Given the description of an element on the screen output the (x, y) to click on. 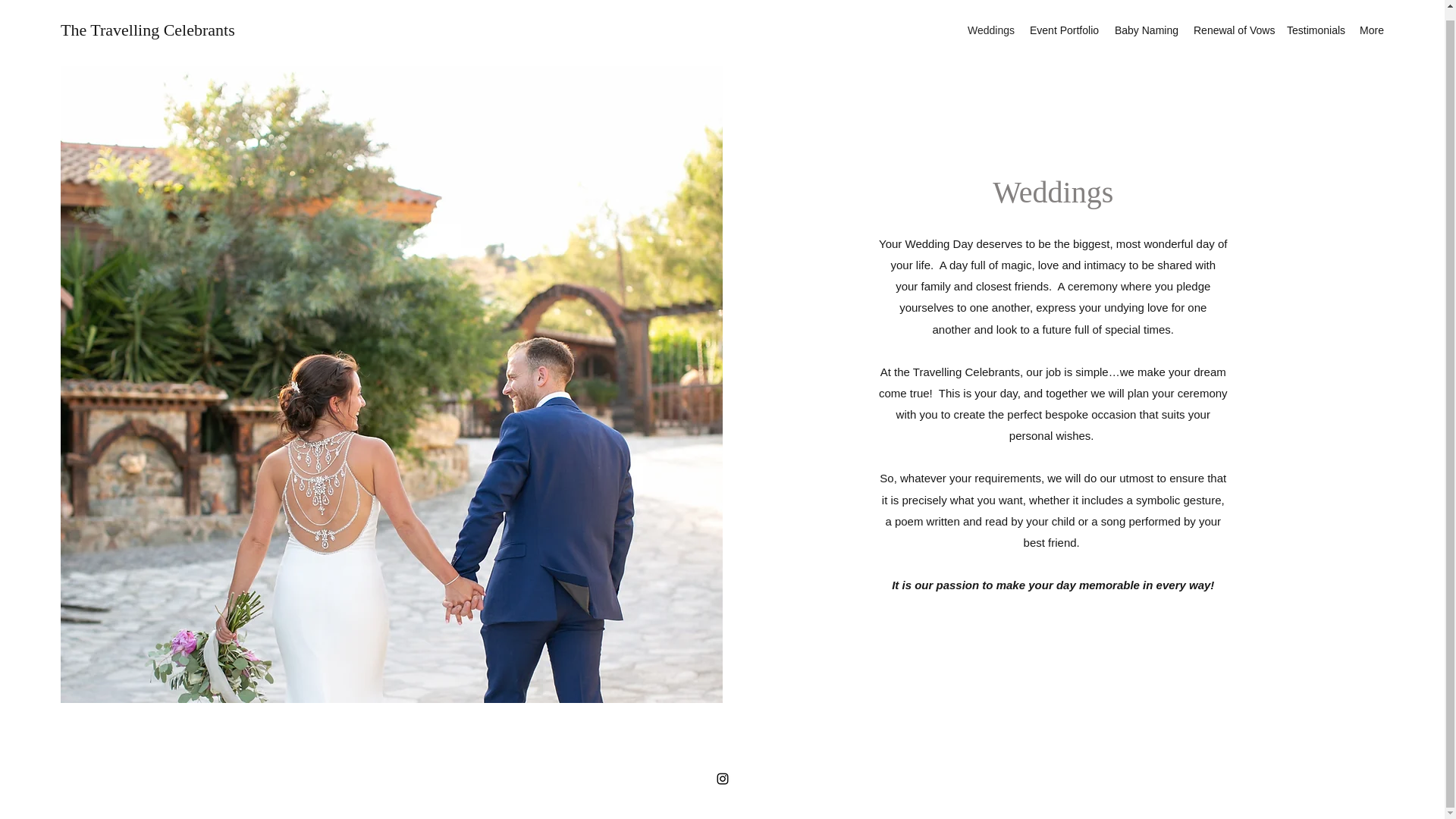
Baby Naming (1146, 29)
The Travelling Celebrants (147, 29)
Event Portfolio (1064, 29)
Renewal of Vows (1232, 29)
Testimonials (1315, 29)
Weddings (990, 29)
